Given the description of an element on the screen output the (x, y) to click on. 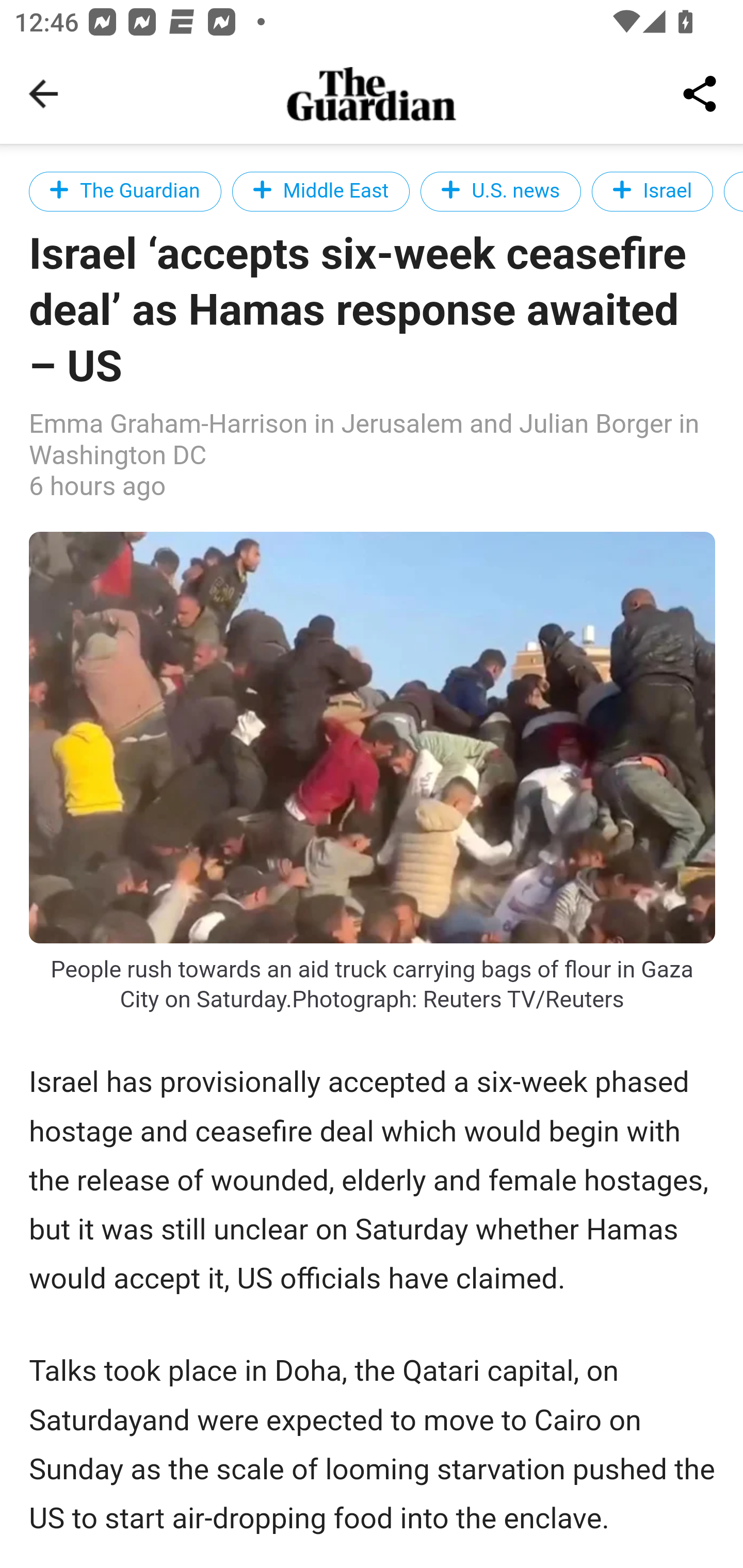
The Guardian (125, 191)
Middle East (321, 191)
U.S. news (500, 191)
Israel (651, 191)
